Given the description of an element on the screen output the (x, y) to click on. 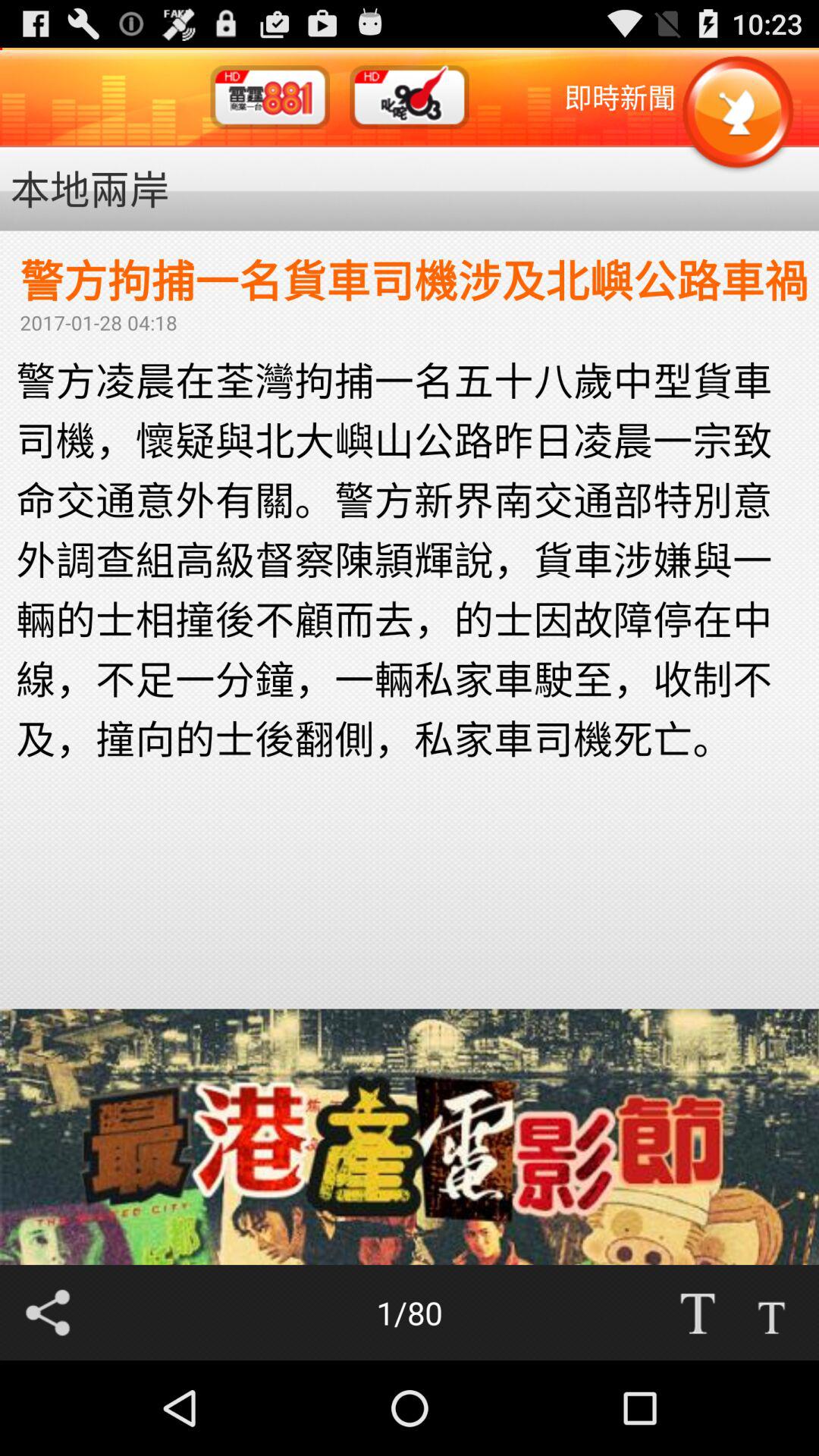
make font size bigger (697, 1312)
